Given the description of an element on the screen output the (x, y) to click on. 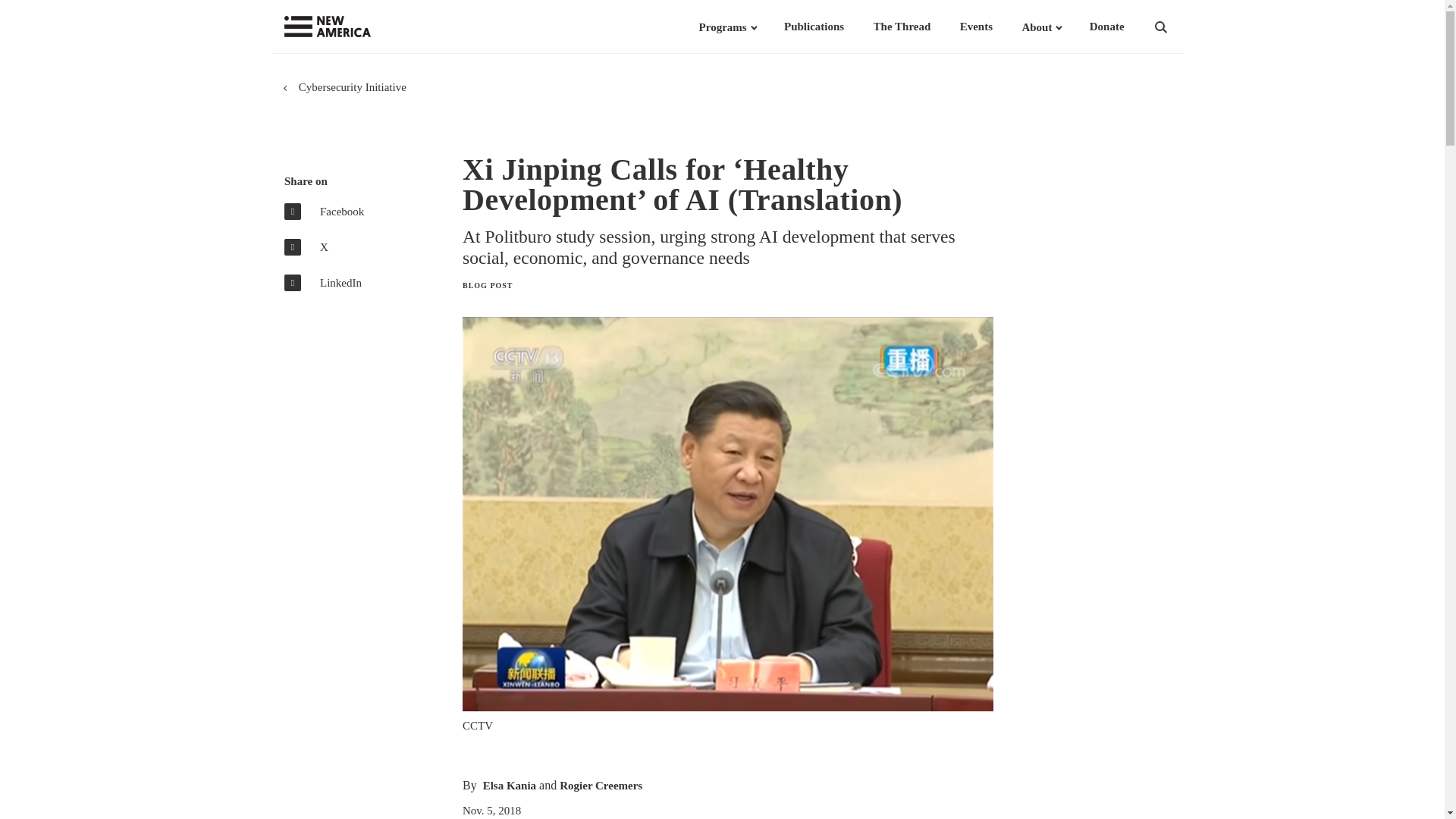
Search (1180, 27)
Search (1180, 27)
Programs (722, 26)
Search (1180, 27)
The Thread (902, 26)
New America (357, 26)
Publications (814, 26)
